Given the description of an element on the screen output the (x, y) to click on. 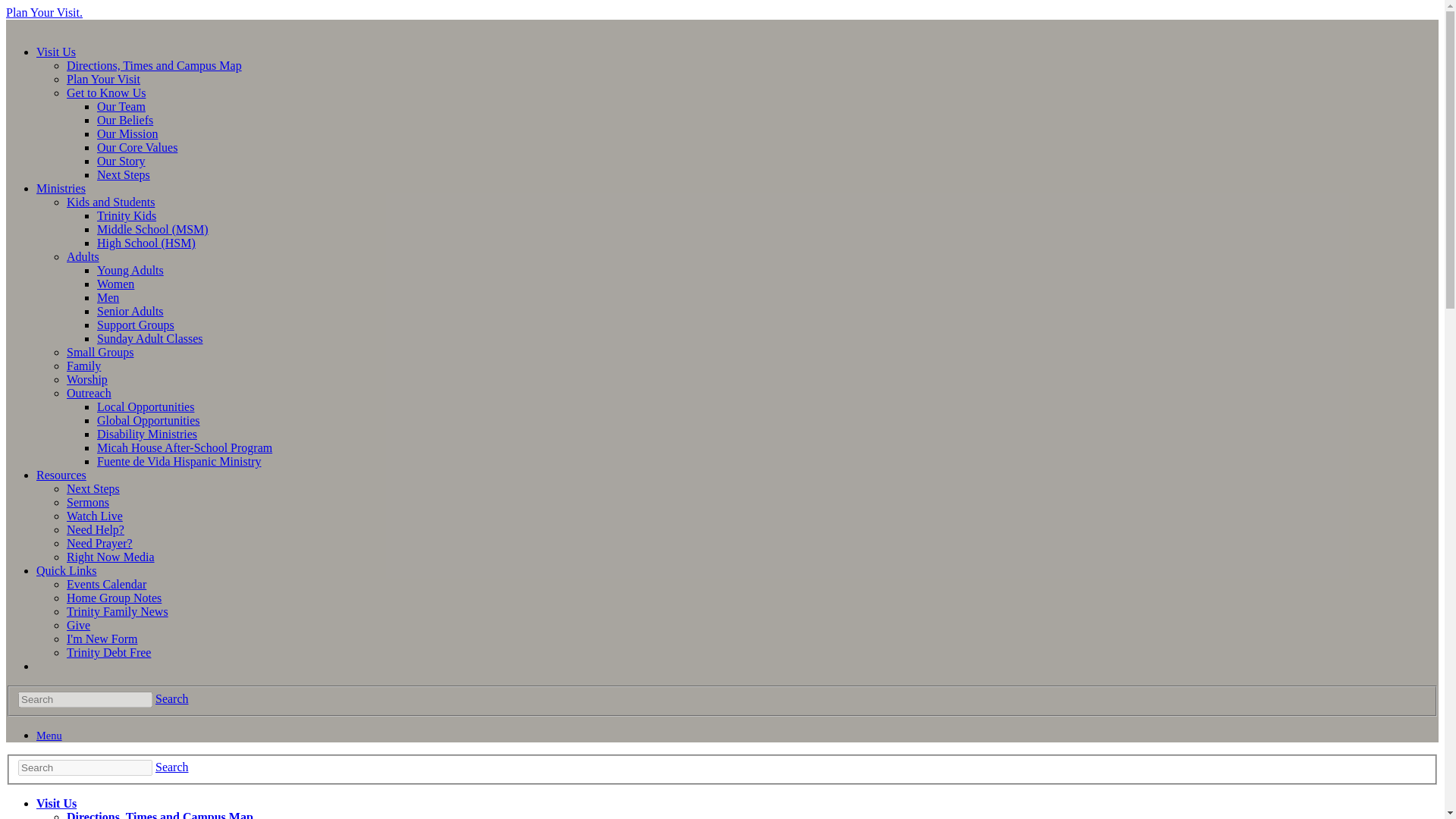
Our Core Values (137, 146)
Micah House After-School Program (184, 447)
Disability Ministries (146, 433)
Senior Adults (130, 310)
Adults (82, 256)
Support Groups (135, 324)
Ministries (60, 187)
Our Beliefs (124, 119)
Our Mission (127, 133)
Watch Live (94, 515)
